Given the description of an element on the screen output the (x, y) to click on. 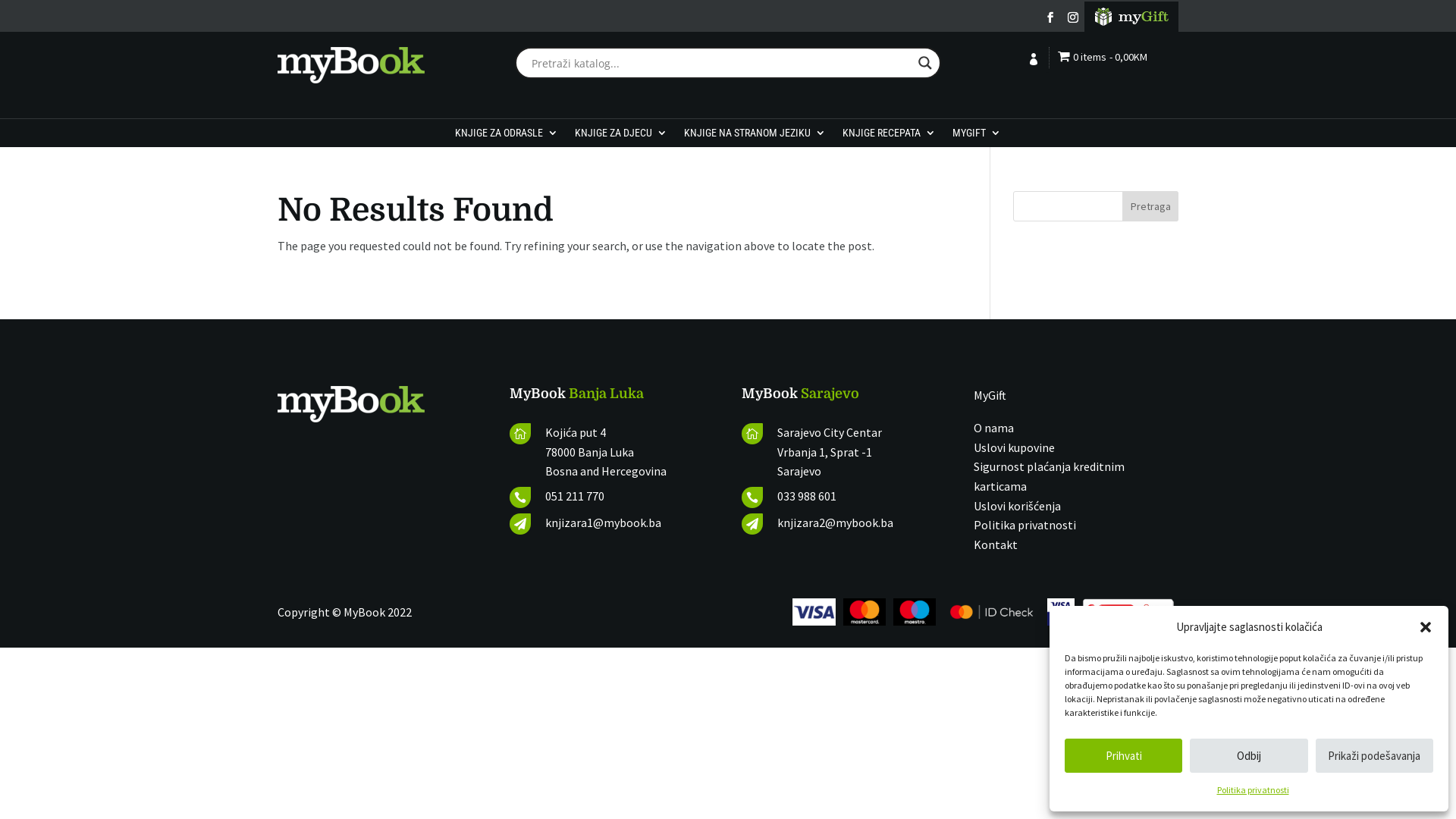
MyGift Element type: text (989, 394)
0 items0,00KM Element type: text (1102, 59)
Follow on Facebook Element type: hover (1049, 17)
Politika privatnosti Element type: text (1252, 790)
Politika privatnosti Element type: text (1024, 524)
Visa_2015 Element type: hover (814, 611)
Pretraga Element type: text (1150, 206)
MYGIFT Element type: text (976, 136)
KNJIGE RECEPATA Element type: text (888, 136)
Follow on Instagram Element type: hover (1071, 17)
051 211 770 Element type: text (574, 495)
033 988 601 Element type: text (806, 495)
Prihvati Element type: text (1123, 755)
KNJIGE ZA DJECU Element type: text (620, 136)
gift-icon Element type: hover (1130, 16)
Visa_2015 Element type: hover (914, 611)
PayWeb e-kupovina_logo_new Element type: hover (1128, 611)
Odbij Element type: text (1248, 755)
Visa_2015 Element type: hover (864, 611)
O nama Element type: text (993, 427)
Kontakt Element type: text (995, 544)
knjizara1@mybook.ba Element type: text (603, 522)
KNJIGE ZA ODRASLE Element type: text (506, 136)
Visa_2015 Element type: hover (1060, 611)
KNJIGE NA STRANOM JEZIKU Element type: text (754, 136)
knjizara2@mybook.ba Element type: text (835, 522)
Login Element type: text (1034, 72)
Visa_2015 Element type: hover (990, 611)
Uslovi kupovine Element type: text (1013, 447)
